Given the description of an element on the screen output the (x, y) to click on. 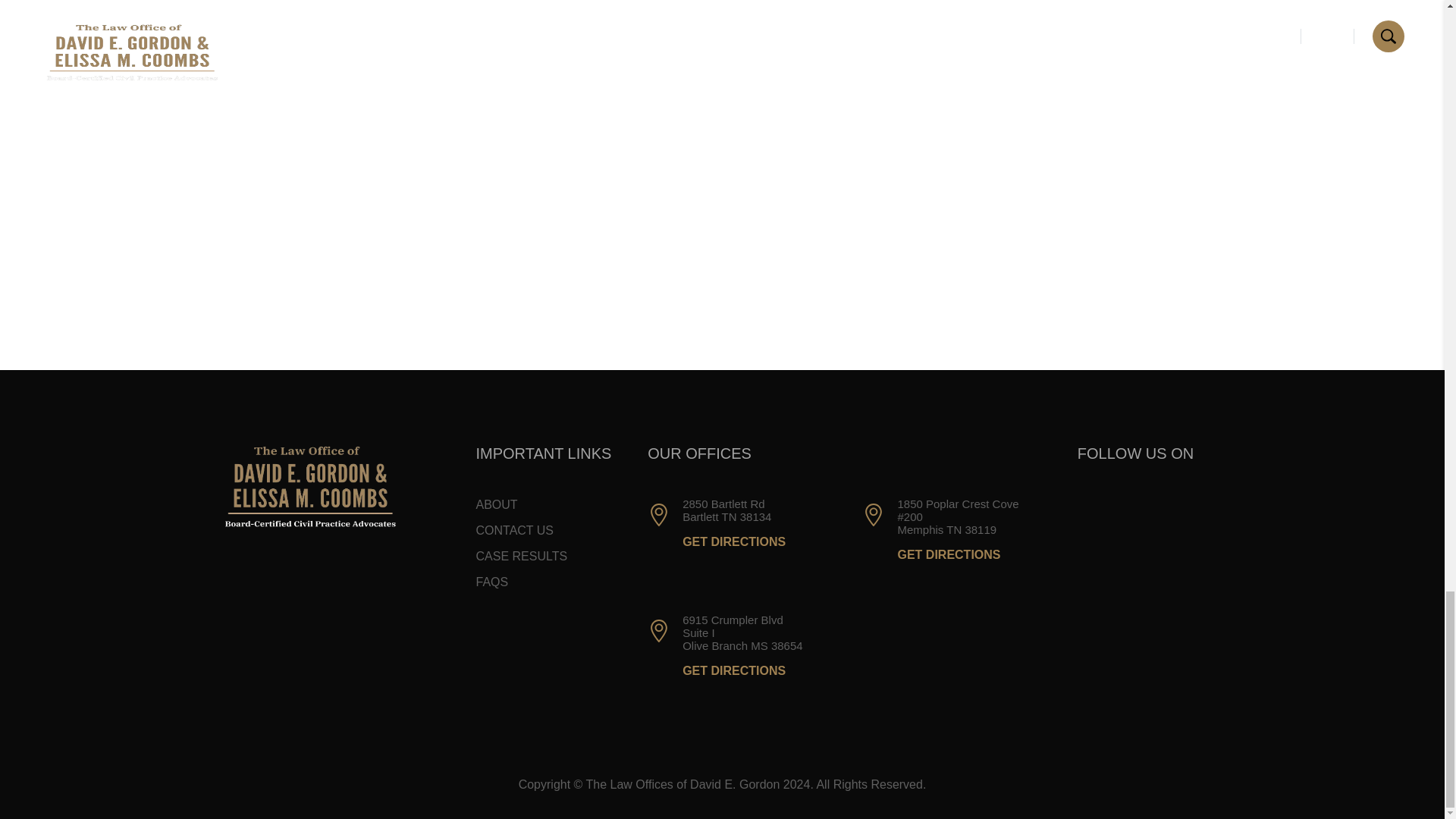
The Law Offices of David E. Gordon (309, 487)
Pin (658, 514)
Pin (658, 630)
Pin (873, 514)
